Given the description of an element on the screen output the (x, y) to click on. 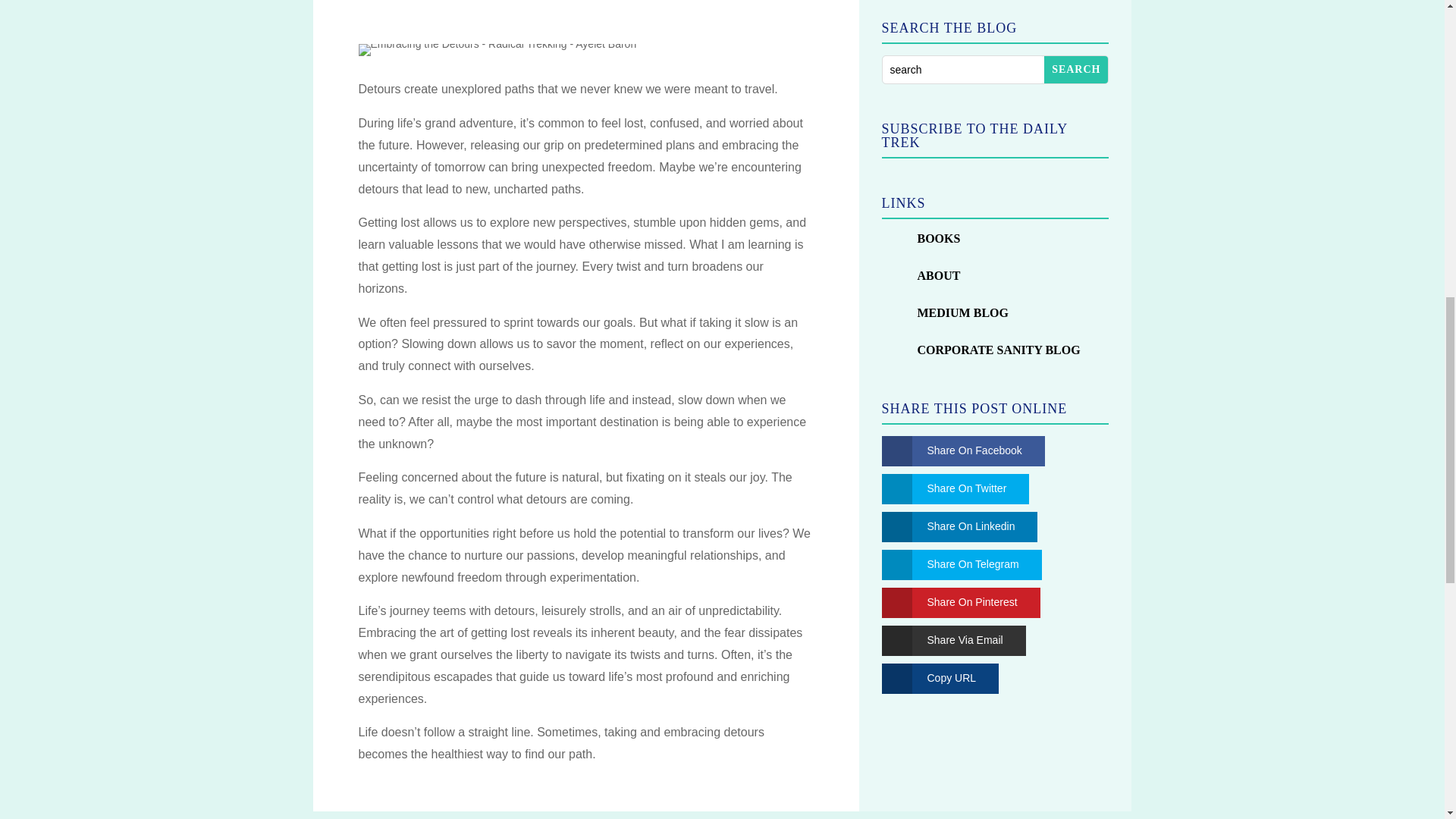
Share On Pinterest (948, 603)
Search (1075, 69)
Search (1075, 69)
Share On Telegram (948, 564)
Search (1075, 69)
Share On Twitter (943, 489)
Share On Facebook (951, 450)
Share Via Email (941, 640)
Copy URL (927, 678)
Share On Linkedin (947, 526)
